Given the description of an element on the screen output the (x, y) to click on. 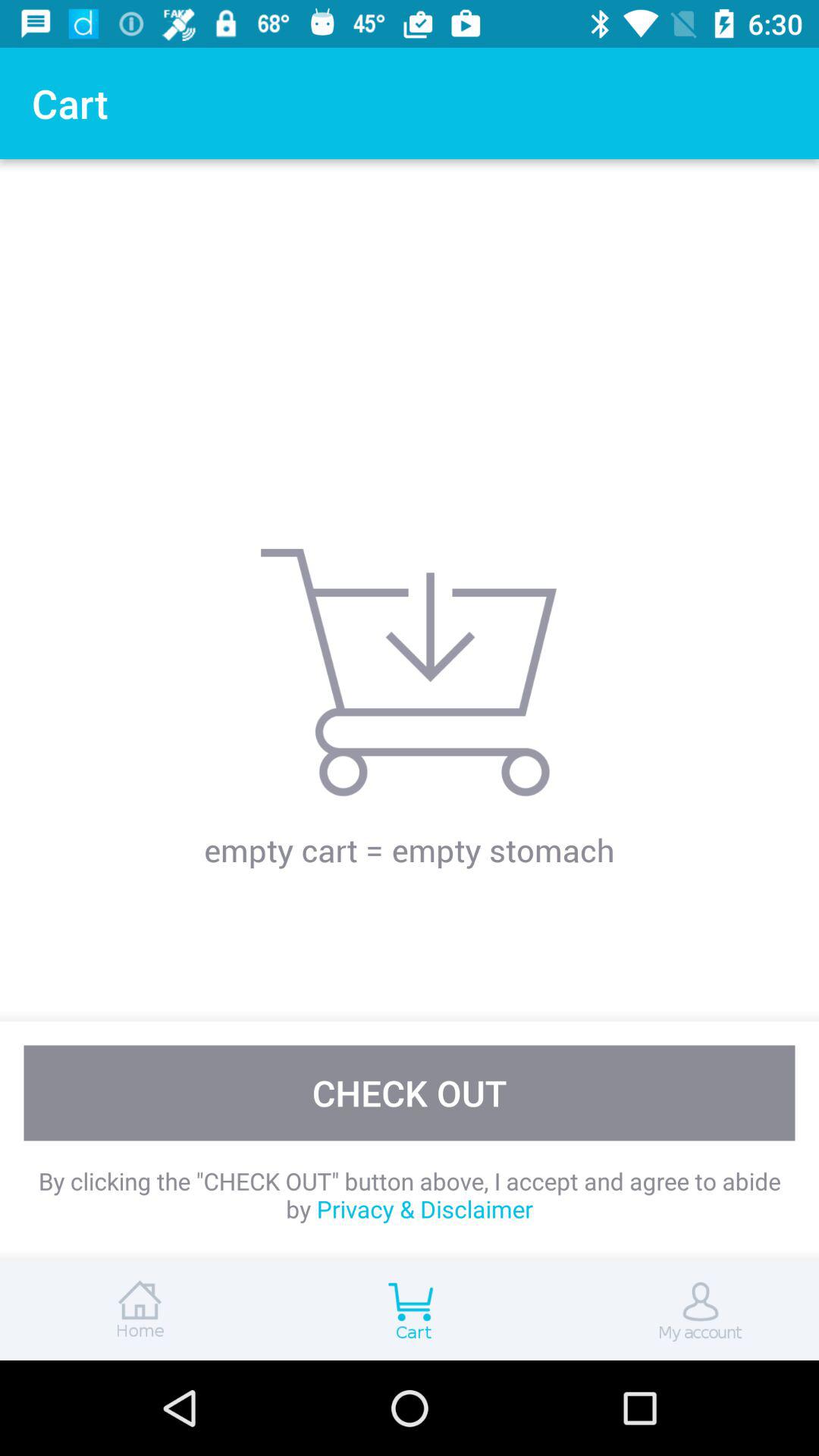
go to my account (682, 1310)
